Given the description of an element on the screen output the (x, y) to click on. 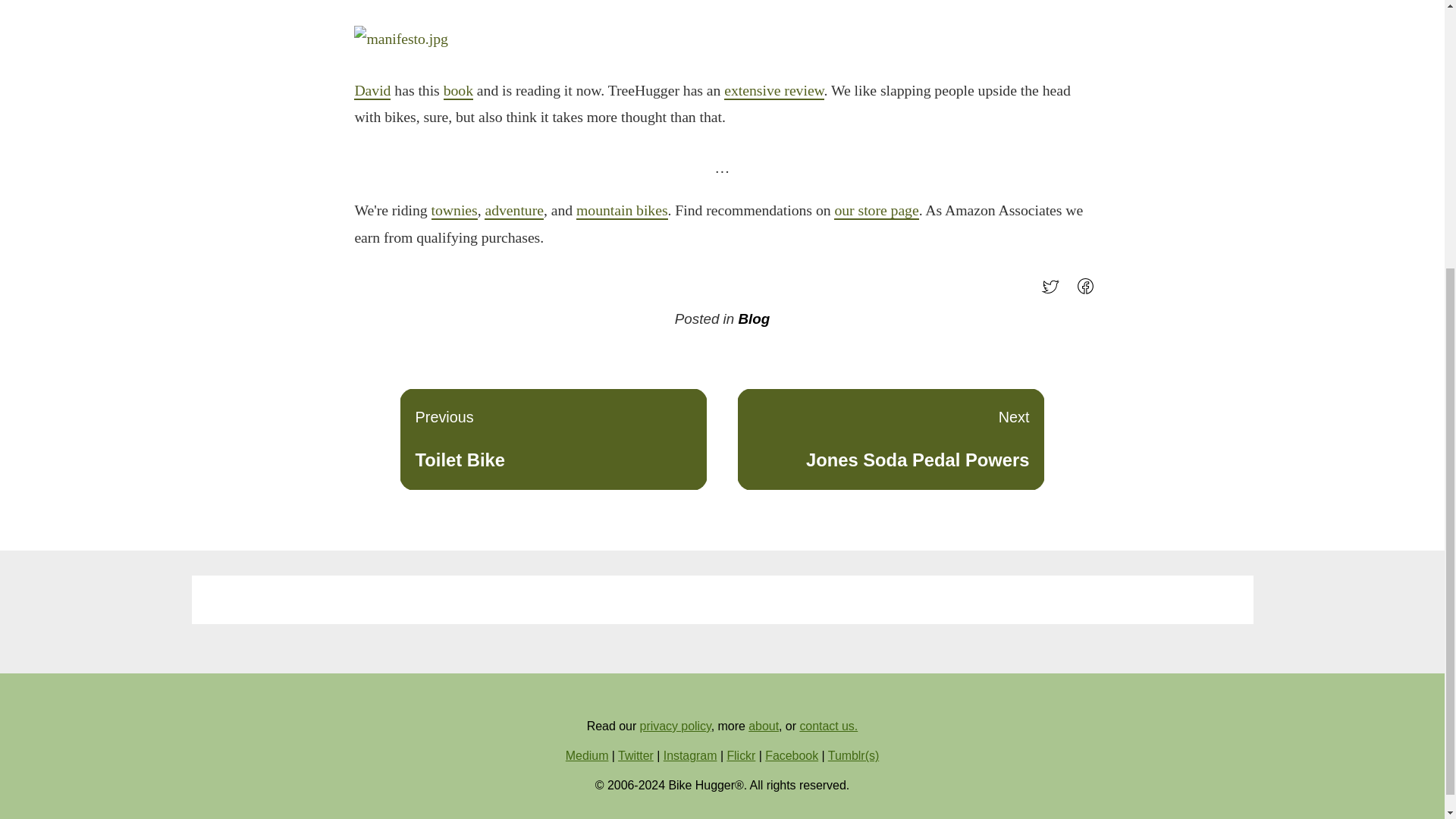
Blog (754, 318)
David (371, 90)
extensive review (773, 90)
about (763, 725)
Twitter (635, 755)
mountain bikes (552, 439)
townies (622, 210)
privacy policy (453, 210)
our store page (675, 725)
